Given the description of an element on the screen output the (x, y) to click on. 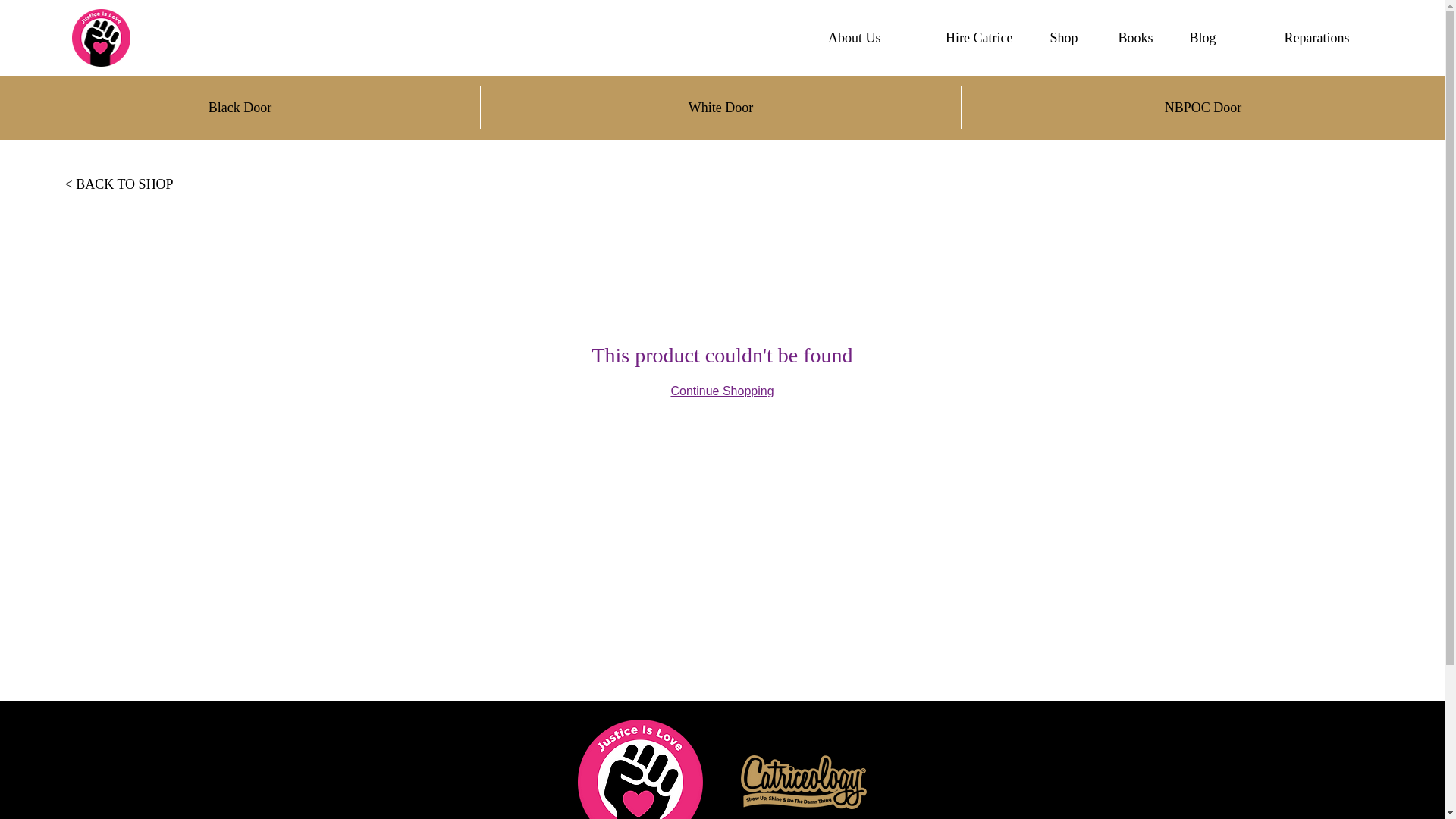
Continue Shopping (721, 390)
Blog (1195, 38)
Hire Catrice (957, 38)
Shop (1056, 38)
About Us (841, 38)
Black Door (240, 107)
Books (1126, 38)
Reparations (1293, 38)
White Door (720, 107)
